Given the description of an element on the screen output the (x, y) to click on. 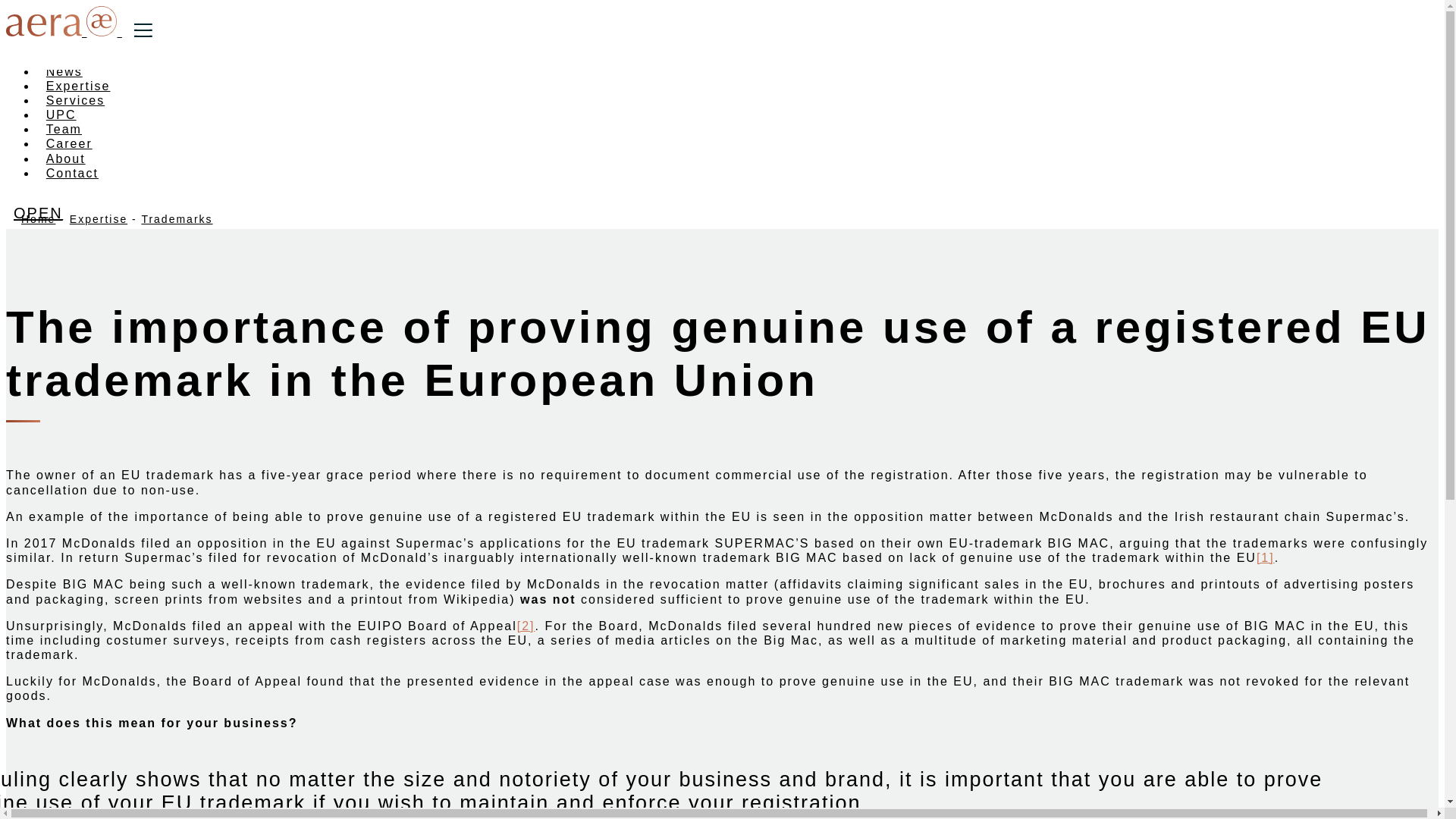
Expertise (77, 85)
Team (63, 128)
Services (75, 100)
Expertise (98, 218)
Home (38, 218)
OPEN (40, 212)
Career (68, 143)
About (65, 158)
UPC (60, 114)
News (64, 71)
